Given the description of an element on the screen output the (x, y) to click on. 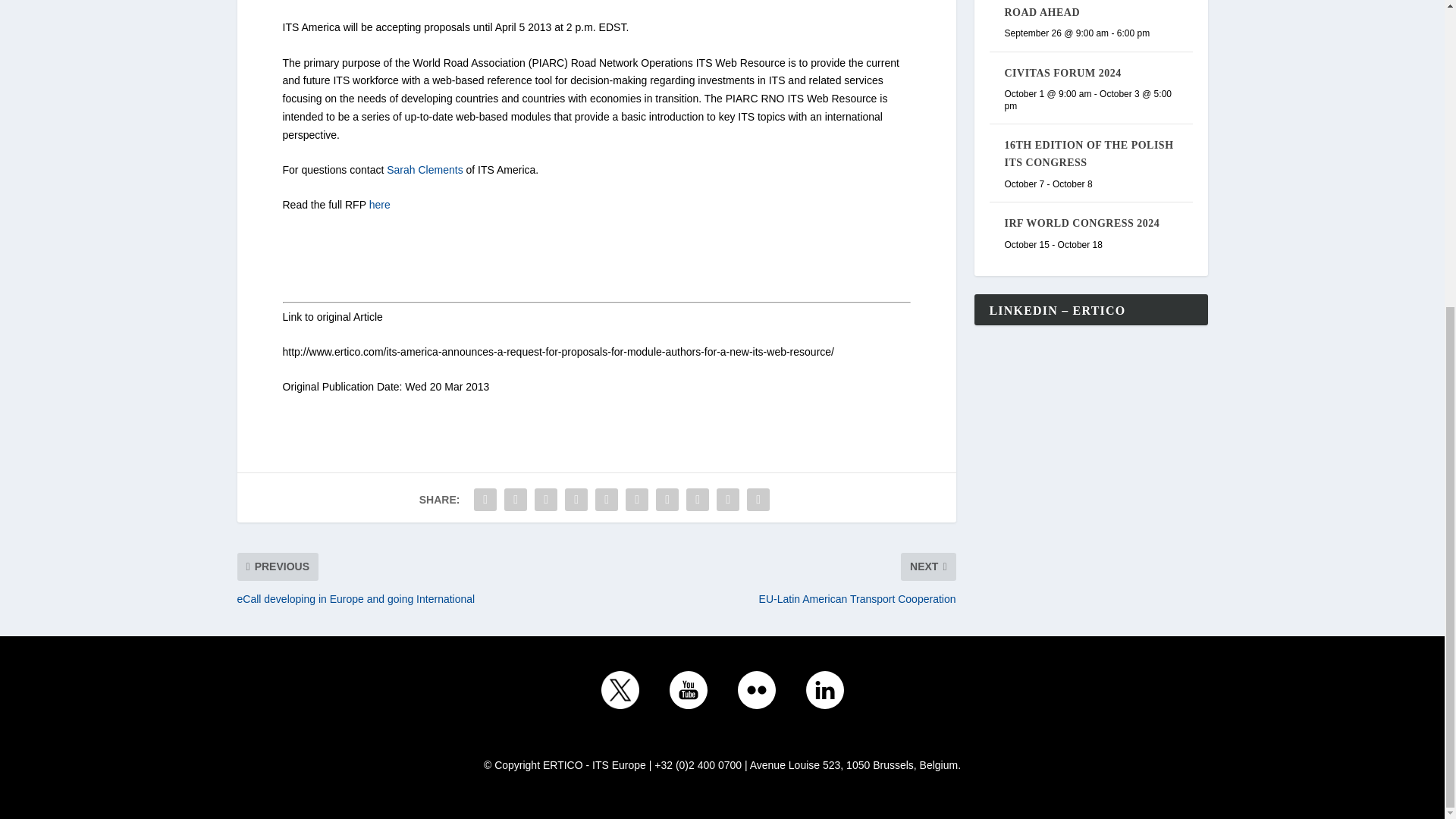
here (379, 204)
SHOW PROJECT FINAL EVENT: ACHIEVEMENTS AND THE ROAD AHEAD (1089, 9)
CIVITAS FORUM 2024 (1062, 72)
